Given the description of an element on the screen output the (x, y) to click on. 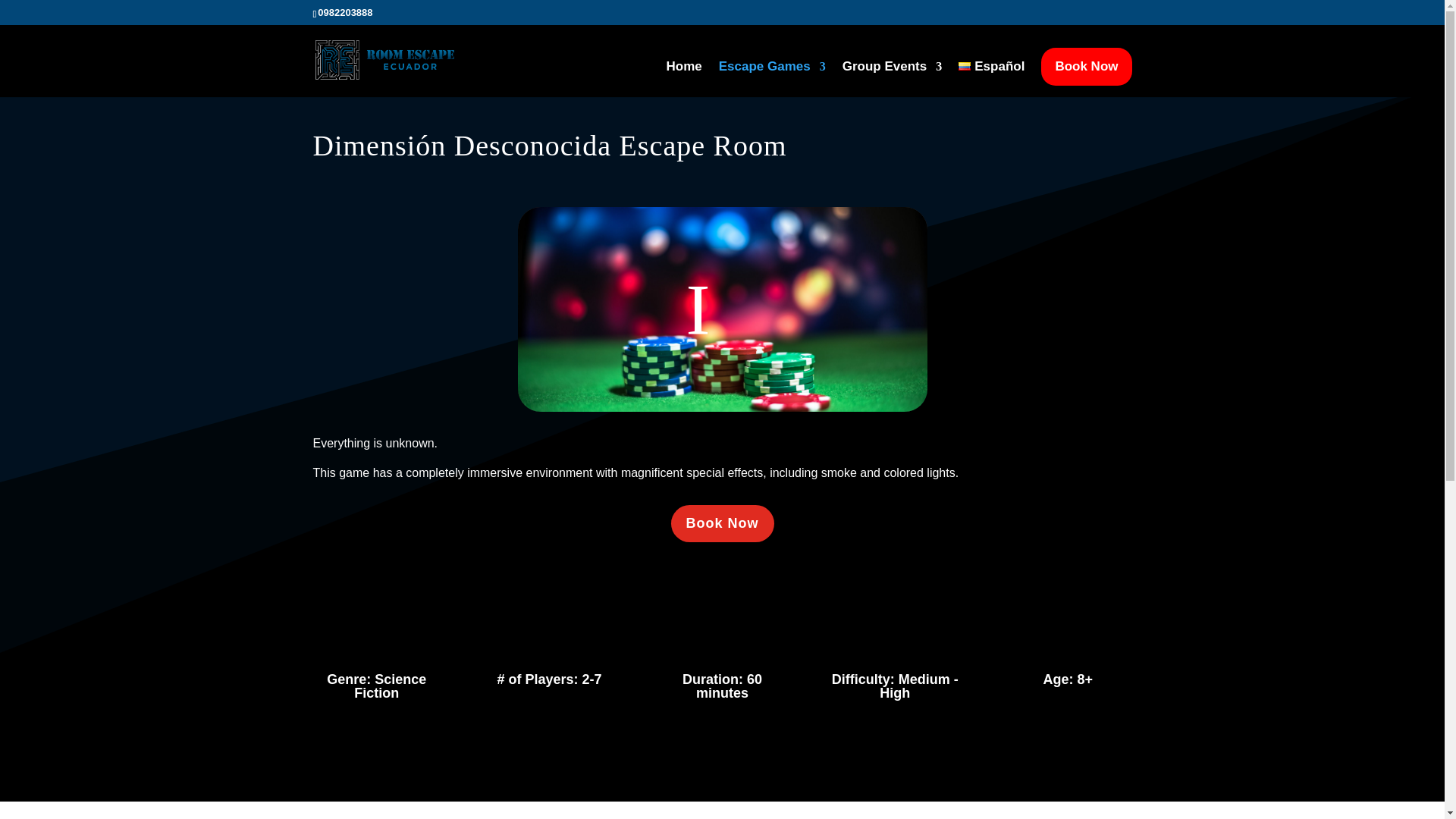
Book Now (721, 523)
Book Now (1086, 66)
Escape Games (772, 79)
0982203888 (344, 12)
Home (683, 79)
Group Events (892, 79)
